Given the description of an element on the screen output the (x, y) to click on. 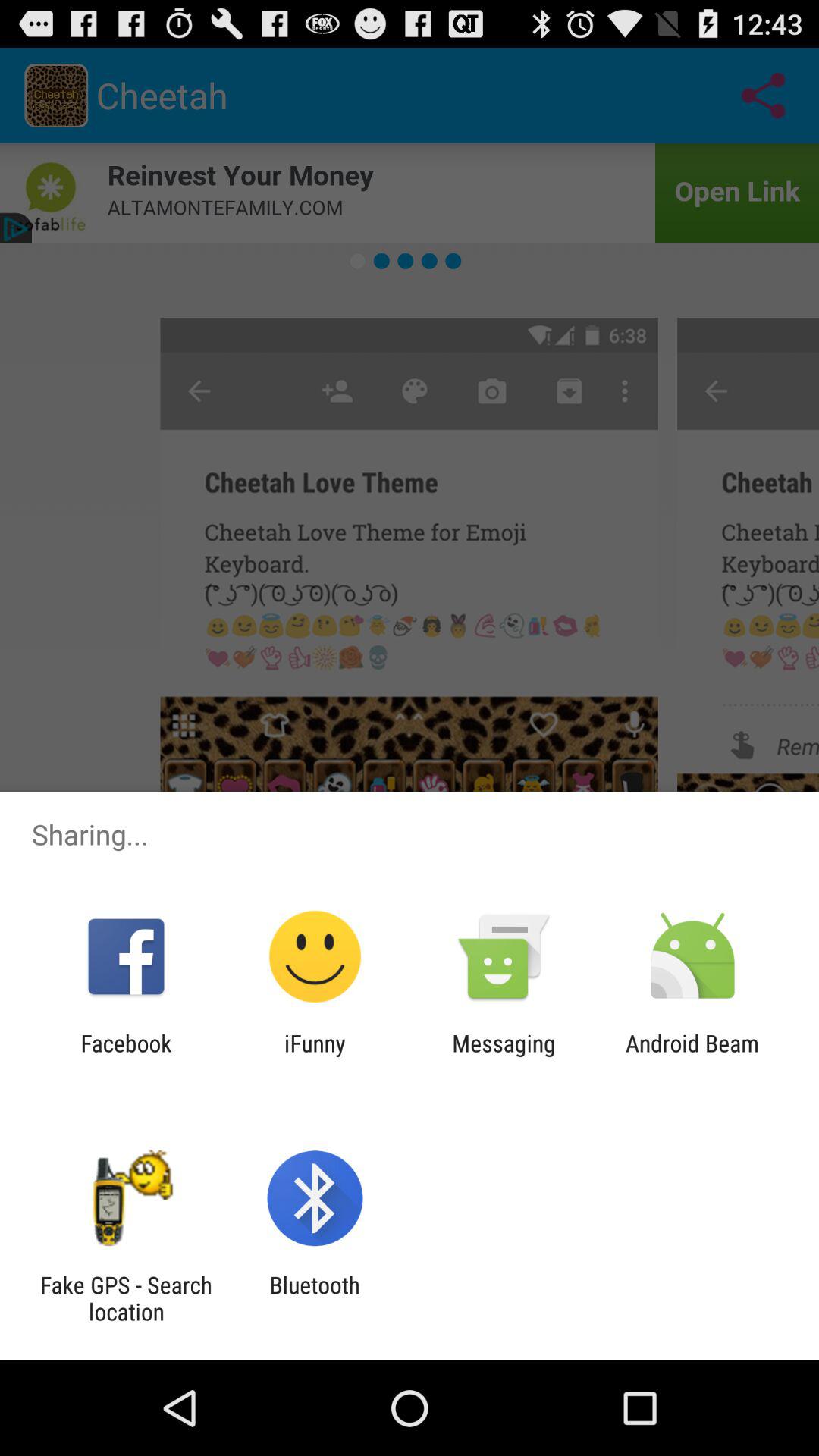
press fake gps search icon (125, 1298)
